Given the description of an element on the screen output the (x, y) to click on. 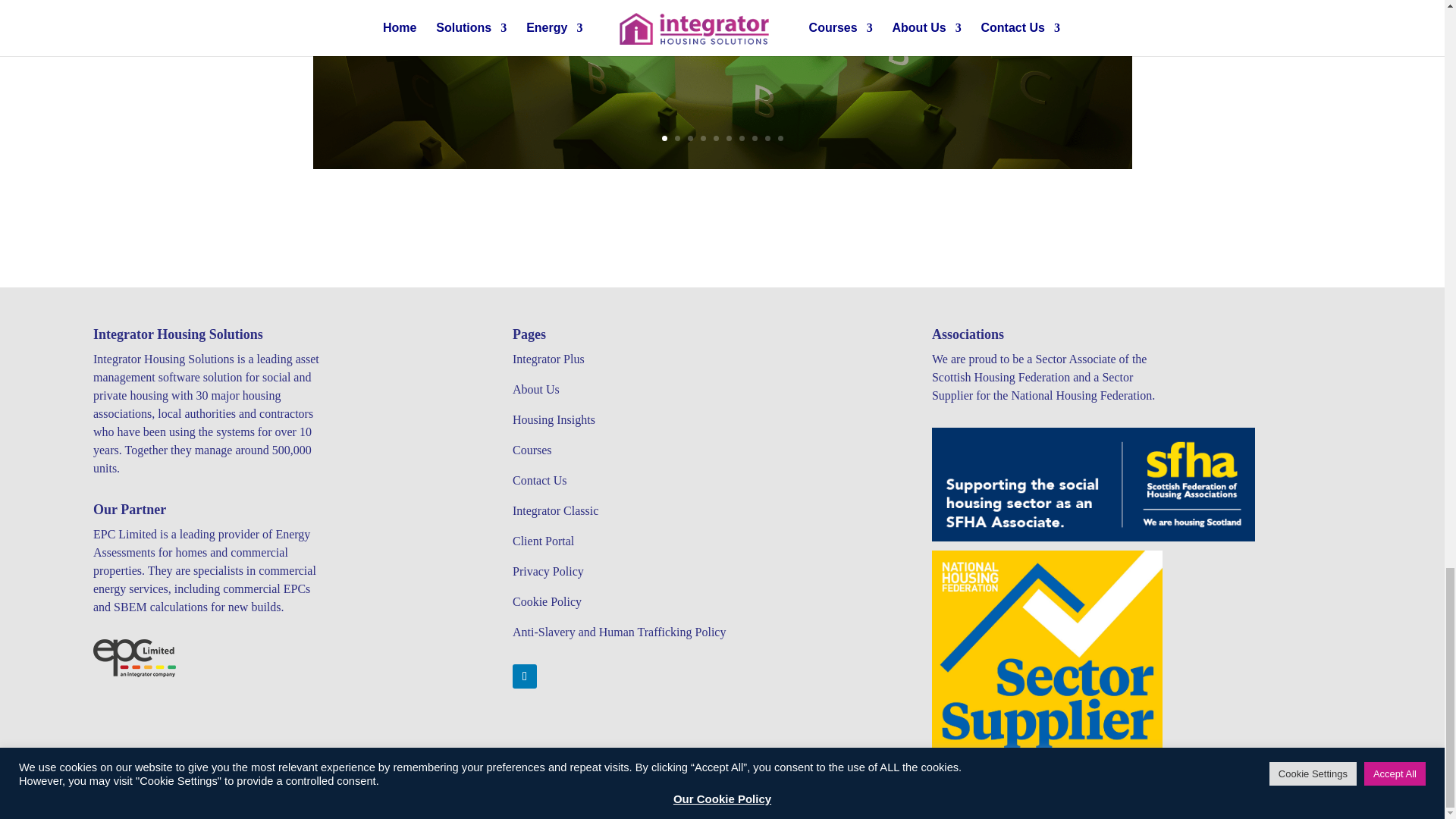
Follow on LinkedIn (524, 676)
sector-supplier (1046, 665)
SFHA Associate (1093, 484)
